Given the description of an element on the screen output the (x, y) to click on. 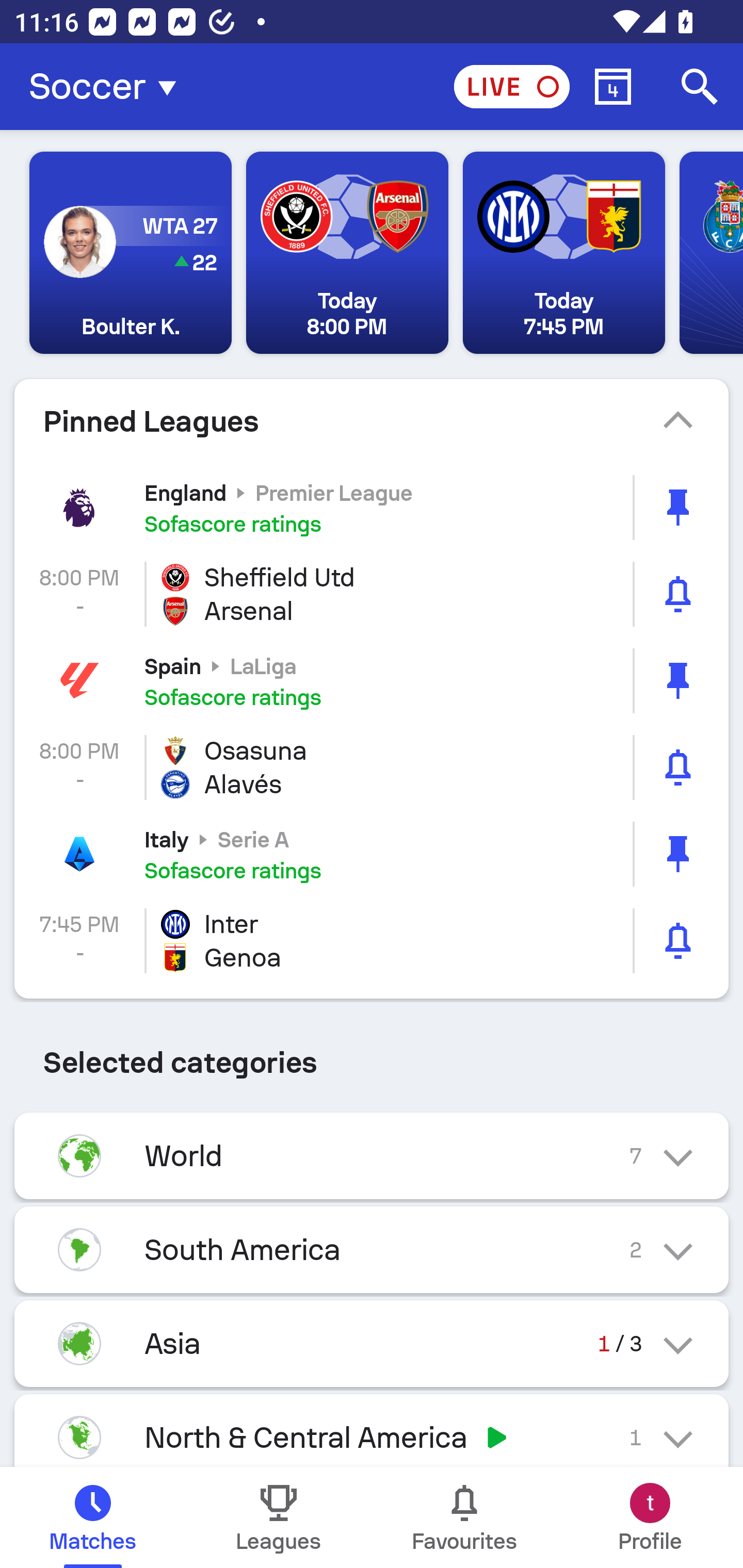
Soccer (108, 86)
Calendar (612, 86)
Search (699, 86)
WTA 27 22 Boulter K. (130, 253)
Today
8:00 PM (346, 253)
Today
7:45 PM (563, 253)
Pinned Leagues (371, 421)
England Premier League Sofascore ratings (371, 507)
8:00 PM - Sheffield Utd Arsenal (371, 594)
Spain LaLiga Sofascore ratings (371, 681)
8:00 PM - Osasuna Alavés (371, 767)
Italy Serie A Sofascore ratings (371, 853)
7:45 PM - Inter Genoa (371, 940)
Selected categories (371, 1054)
World 7 (371, 1156)
South America 2 (371, 1249)
Asia 1 / 3 (371, 1343)
North & Central America 1 (371, 1430)
Leagues (278, 1517)
Favourites (464, 1517)
Profile (650, 1517)
